Given the description of an element on the screen output the (x, y) to click on. 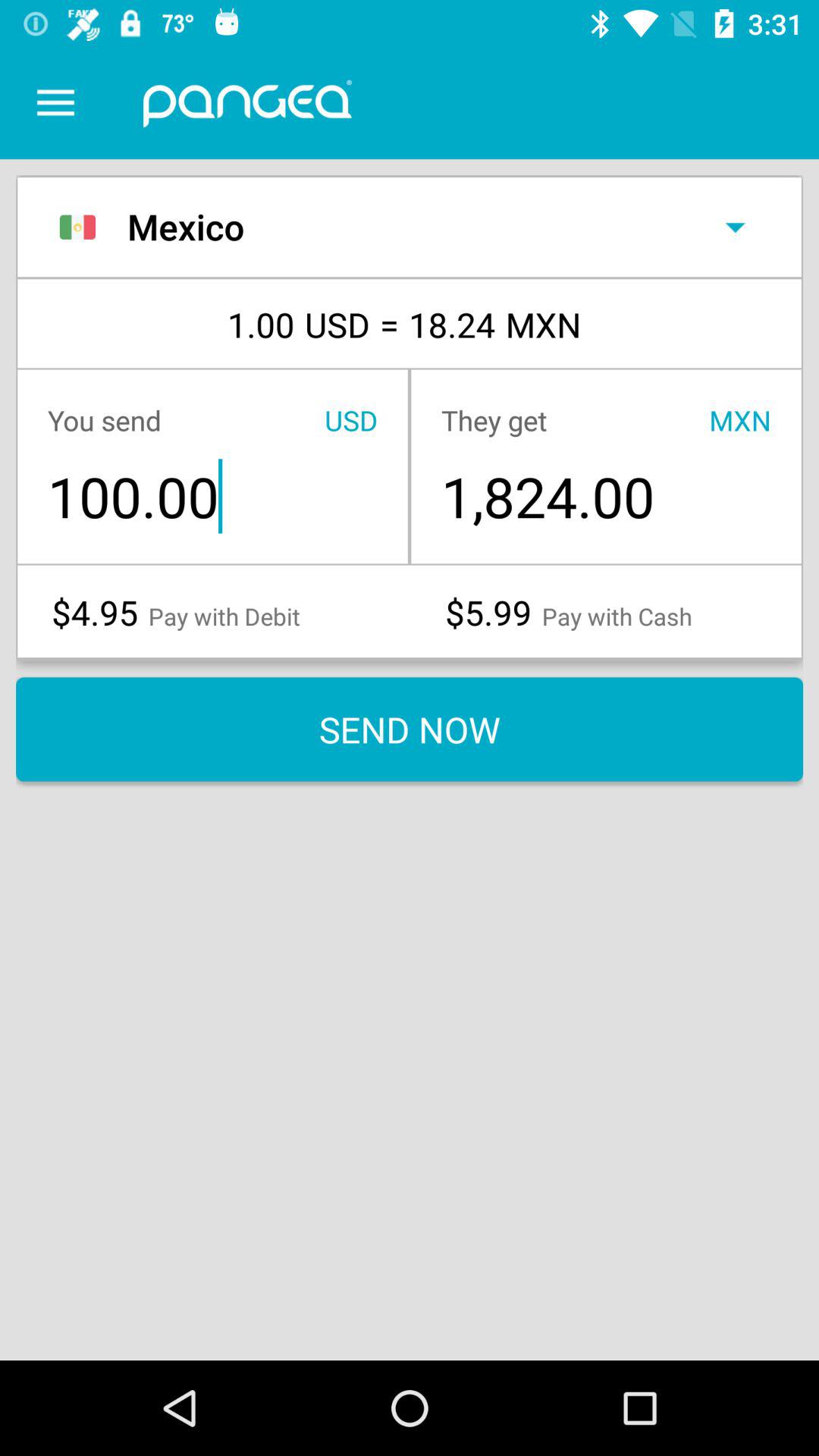
open the send now item (409, 729)
